Given the description of an element on the screen output the (x, y) to click on. 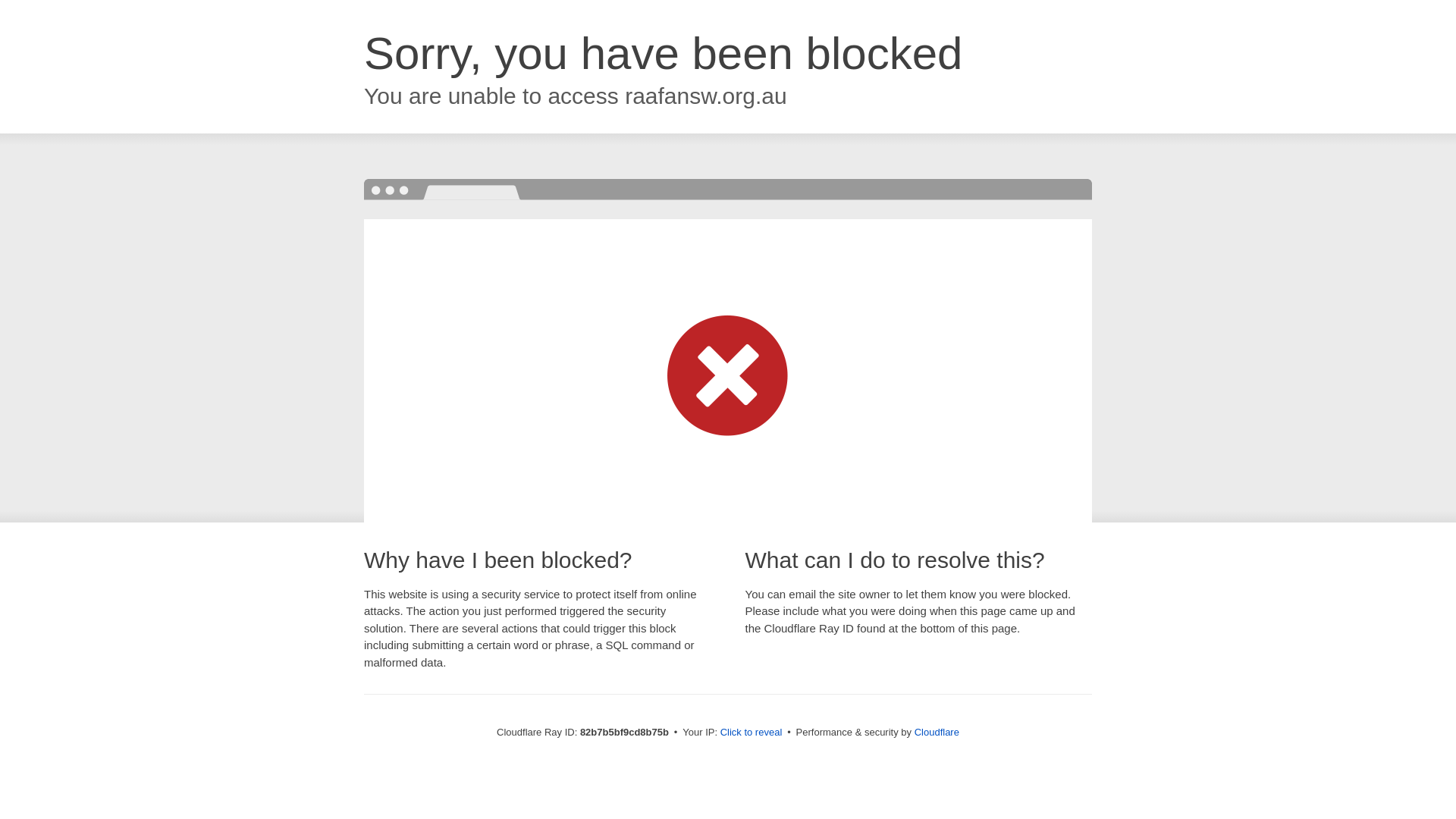
Click to reveal Element type: text (751, 732)
Cloudflare Element type: text (936, 731)
